Given the description of an element on the screen output the (x, y) to click on. 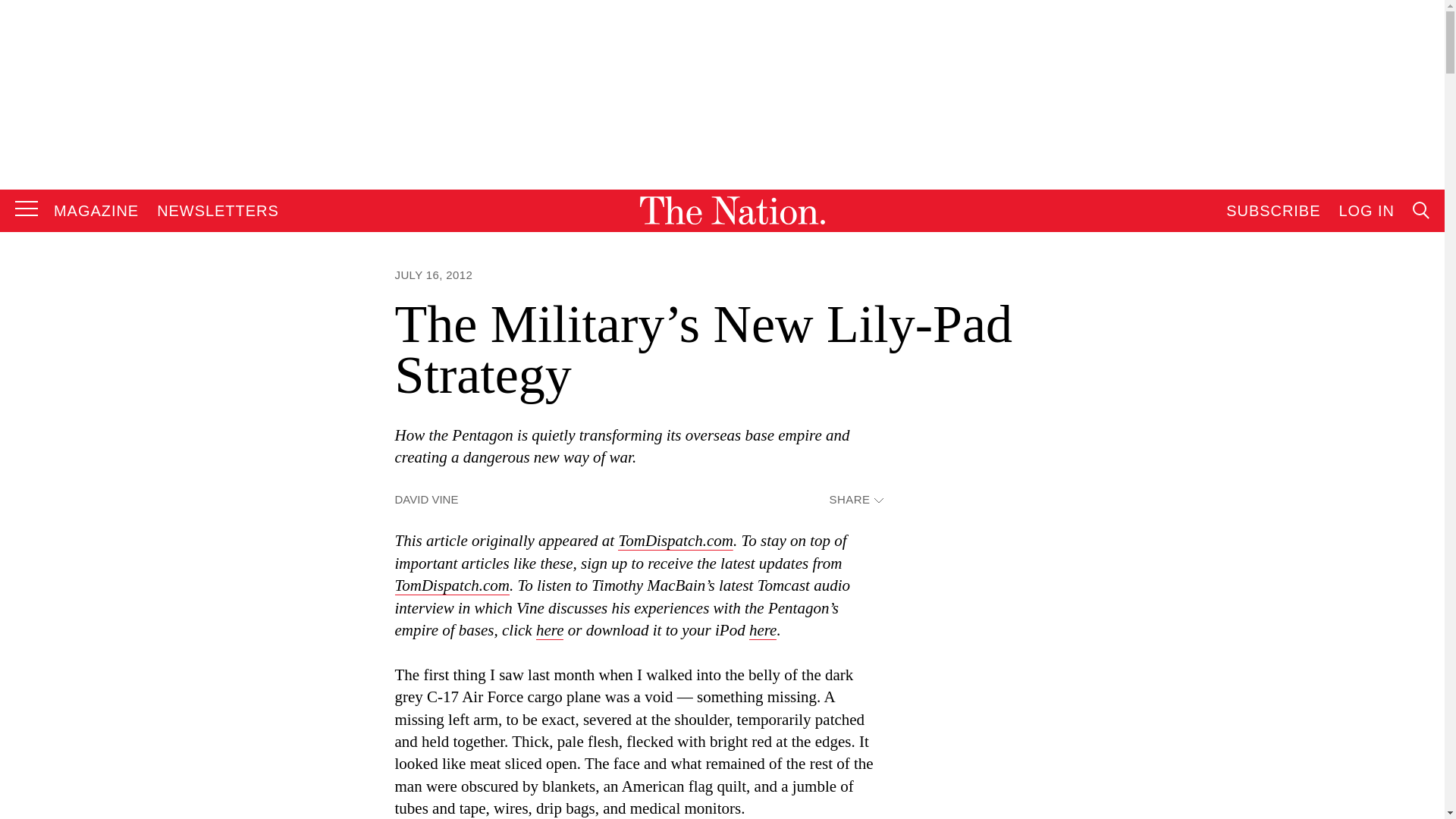
SHARE (855, 499)
Search (1278, 364)
SUBSCRIBE (1272, 210)
NEWSLETTERS (218, 210)
LOG IN (1366, 210)
DAVID VINE (426, 499)
MAGAZINE (95, 210)
